Given the description of an element on the screen output the (x, y) to click on. 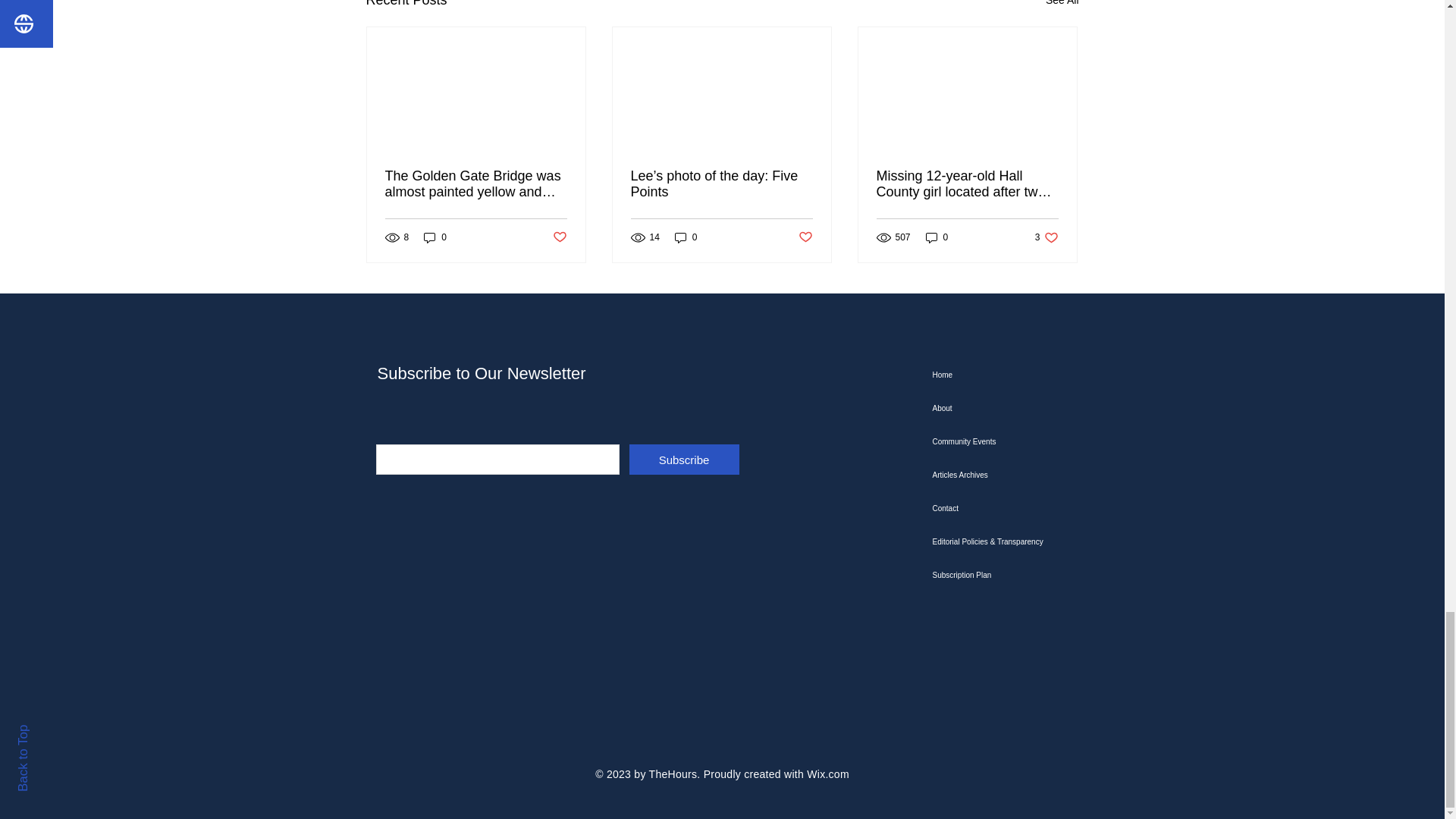
The Golden Gate Bridge was almost painted yellow and black (476, 183)
See All (1061, 5)
